Given the description of an element on the screen output the (x, y) to click on. 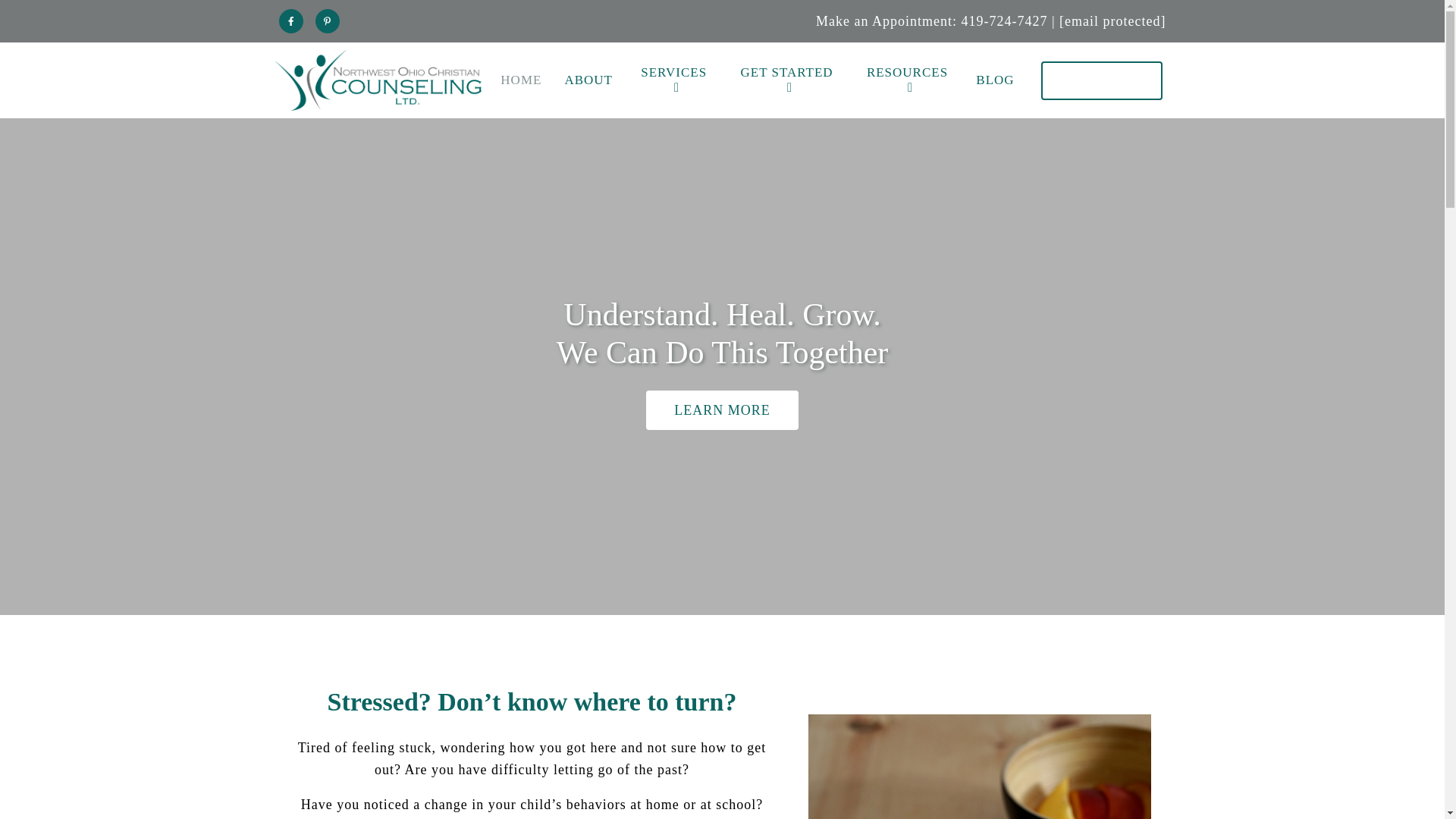
GET STARTED (786, 80)
419-724-7427 (1005, 20)
HOME (520, 79)
RESOURCES (907, 80)
CONTACT (1101, 79)
ABOUT (588, 79)
SERVICES (672, 80)
BLOG (994, 79)
